Given the description of an element on the screen output the (x, y) to click on. 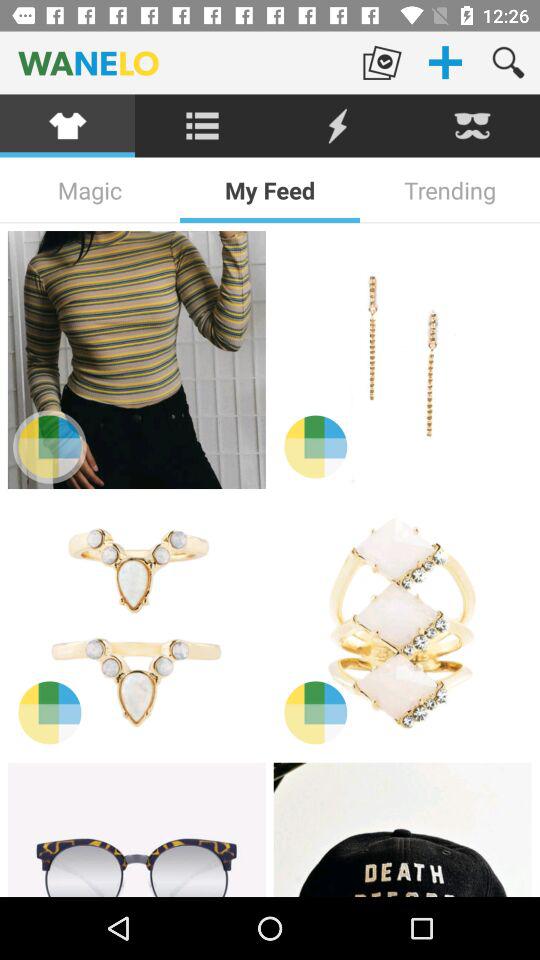
menu button (202, 125)
